Given the description of an element on the screen output the (x, y) to click on. 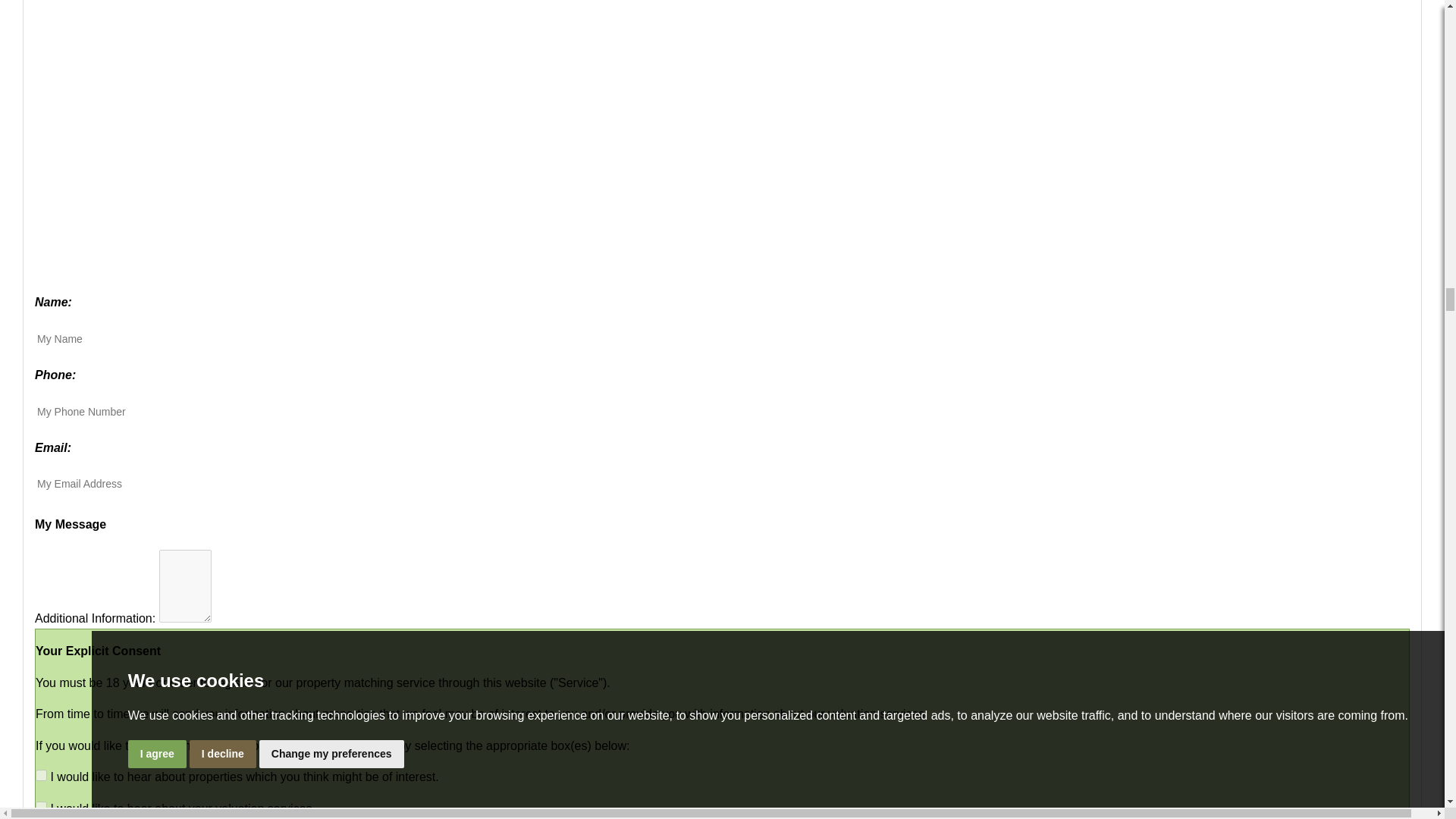
yes (40, 775)
yes (40, 807)
